Given the description of an element on the screen output the (x, y) to click on. 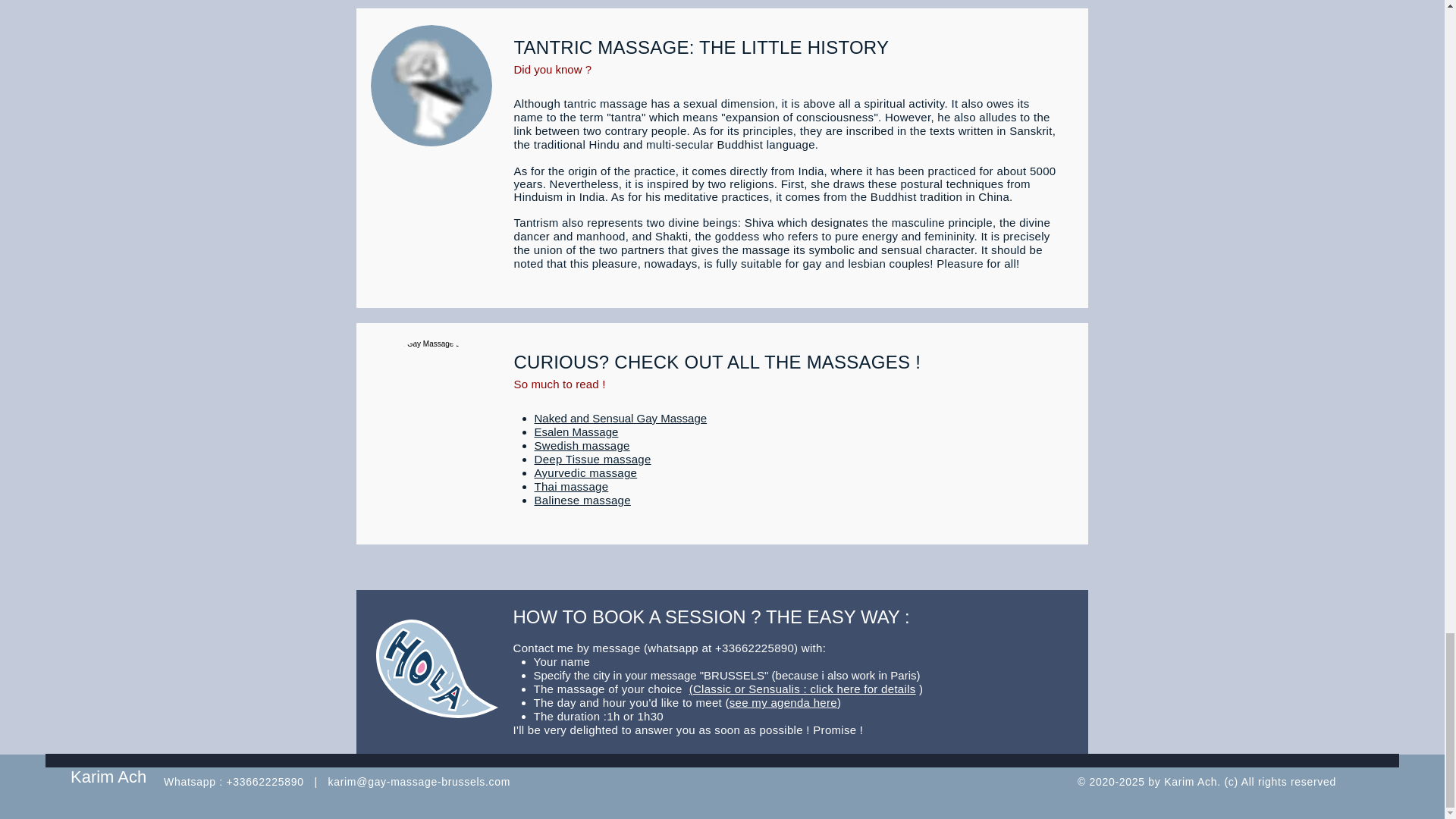
Balinese massage (582, 499)
Swedish massage (581, 445)
Esalen Massage (575, 431)
see my agenda here (783, 702)
Tantric Gay Massage Brussels (430, 85)
Karim Ach (108, 776)
Thai massage (571, 486)
Naked and Sensual Gay Massage (620, 418)
Deep Tissue massage (592, 459)
Tantric Gay Massage Brussels (430, 400)
Ayurvedic massage (585, 472)
